Given the description of an element on the screen output the (x, y) to click on. 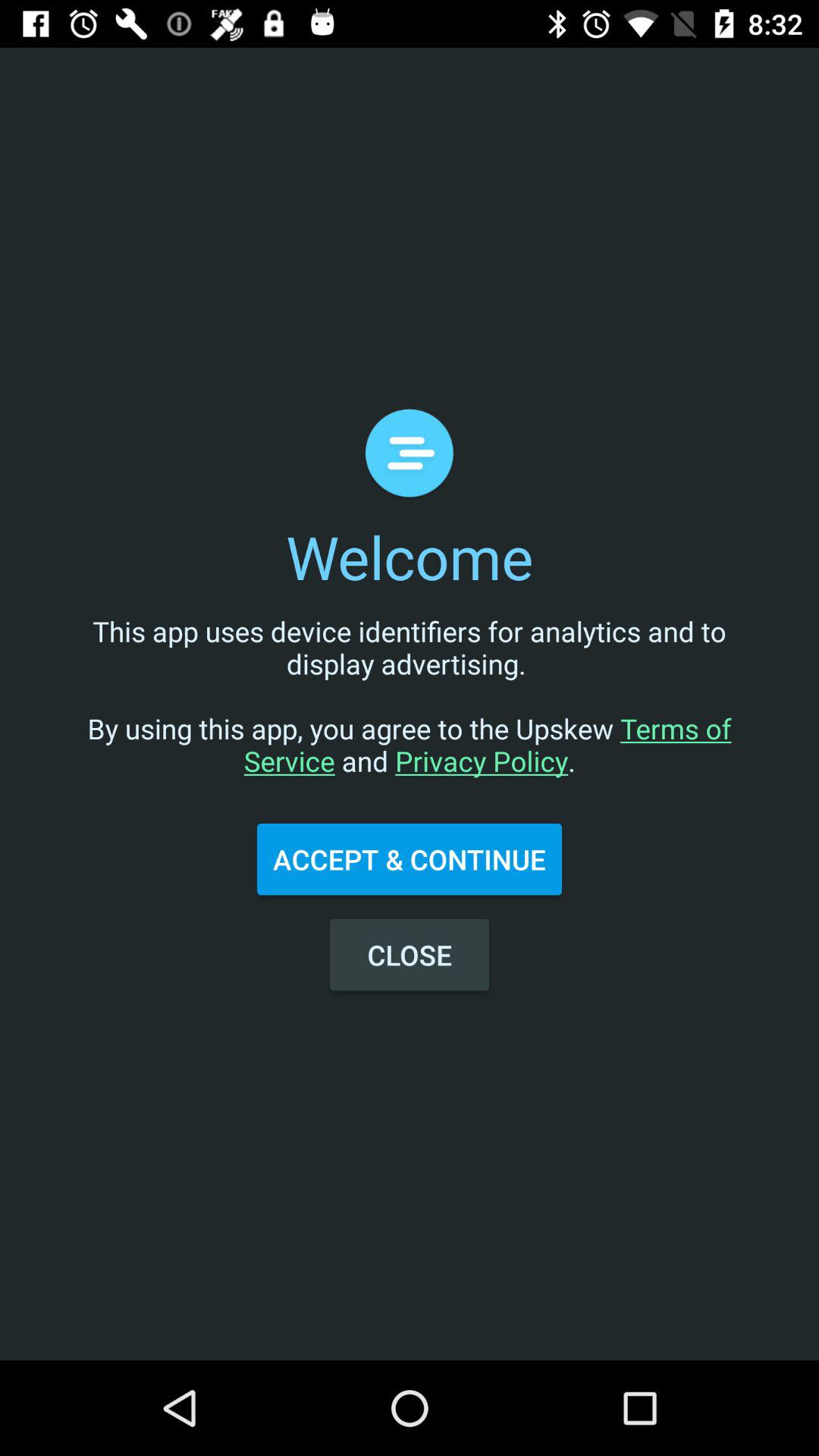
turn on the this app uses (409, 711)
